Given the description of an element on the screen output the (x, y) to click on. 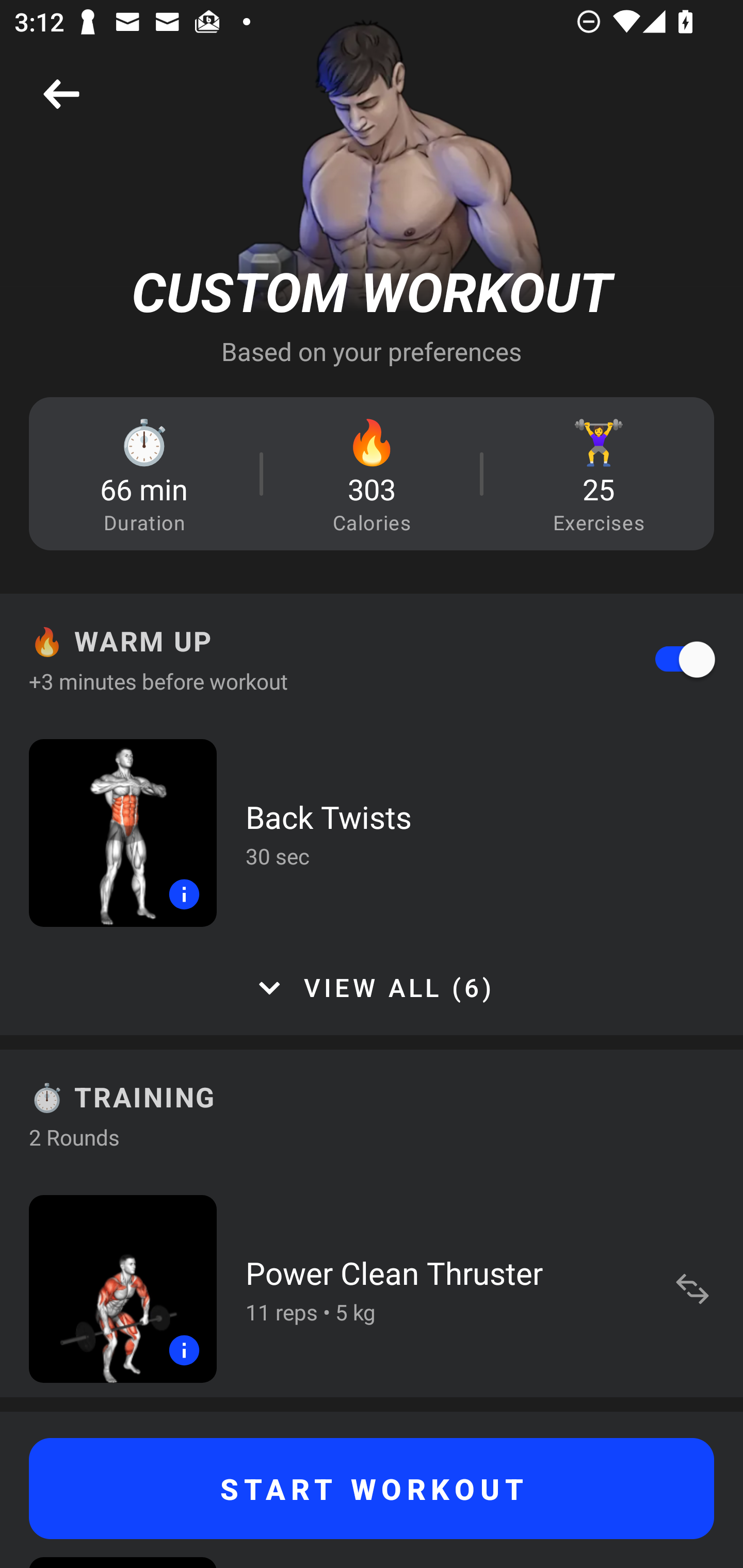
Back Twists 30 sec (371, 832)
VIEW ALL (6) (371, 987)
Power Clean Thruster 11 reps • 5 kg (371, 1288)
START WORKOUT (371, 1488)
